Given the description of an element on the screen output the (x, y) to click on. 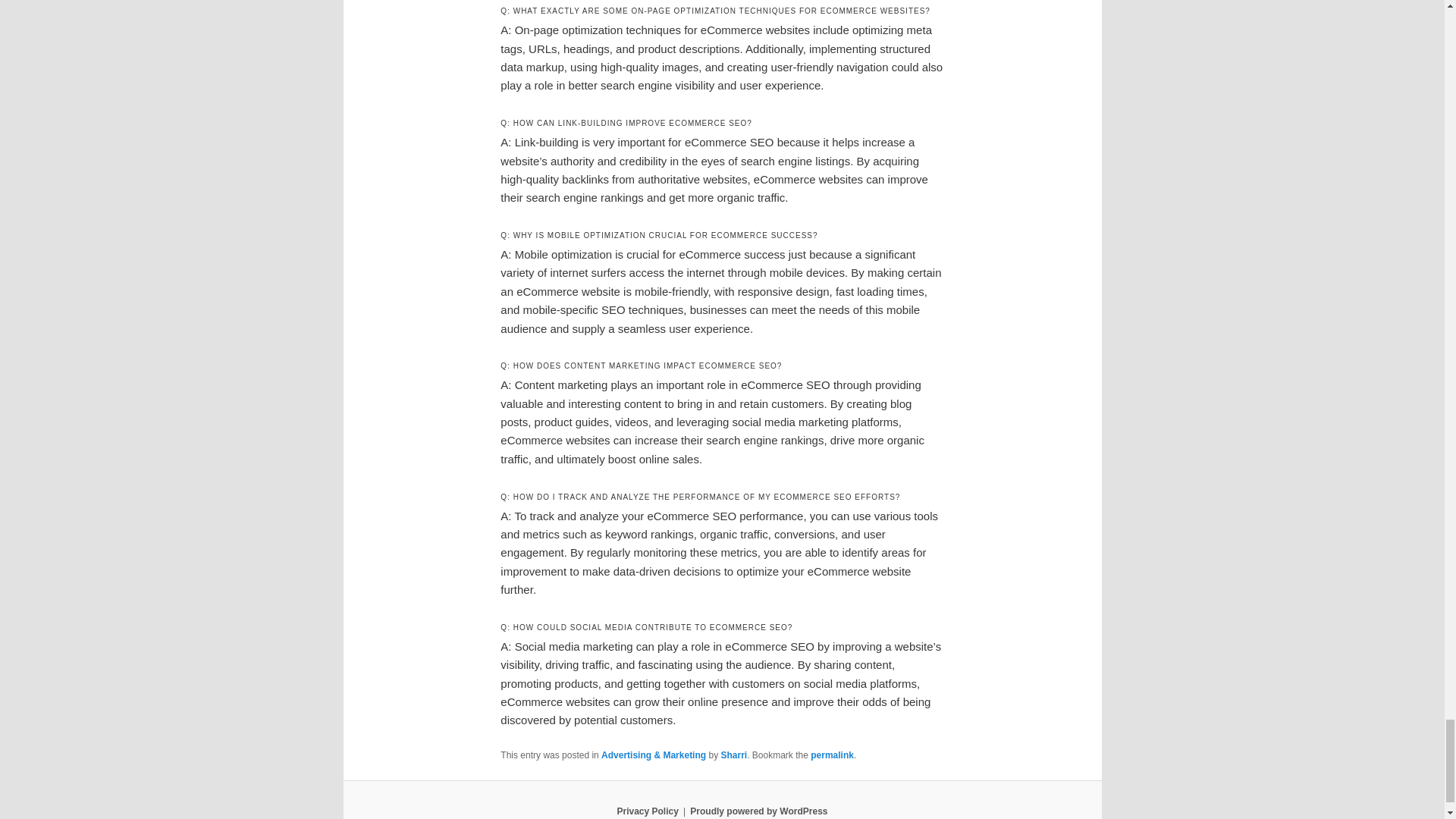
Privacy Policy (646, 810)
Proudly powered by WordPress (758, 810)
Sharri (733, 755)
Semantic Personal Publishing Platform (758, 810)
permalink (831, 755)
